Given the description of an element on the screen output the (x, y) to click on. 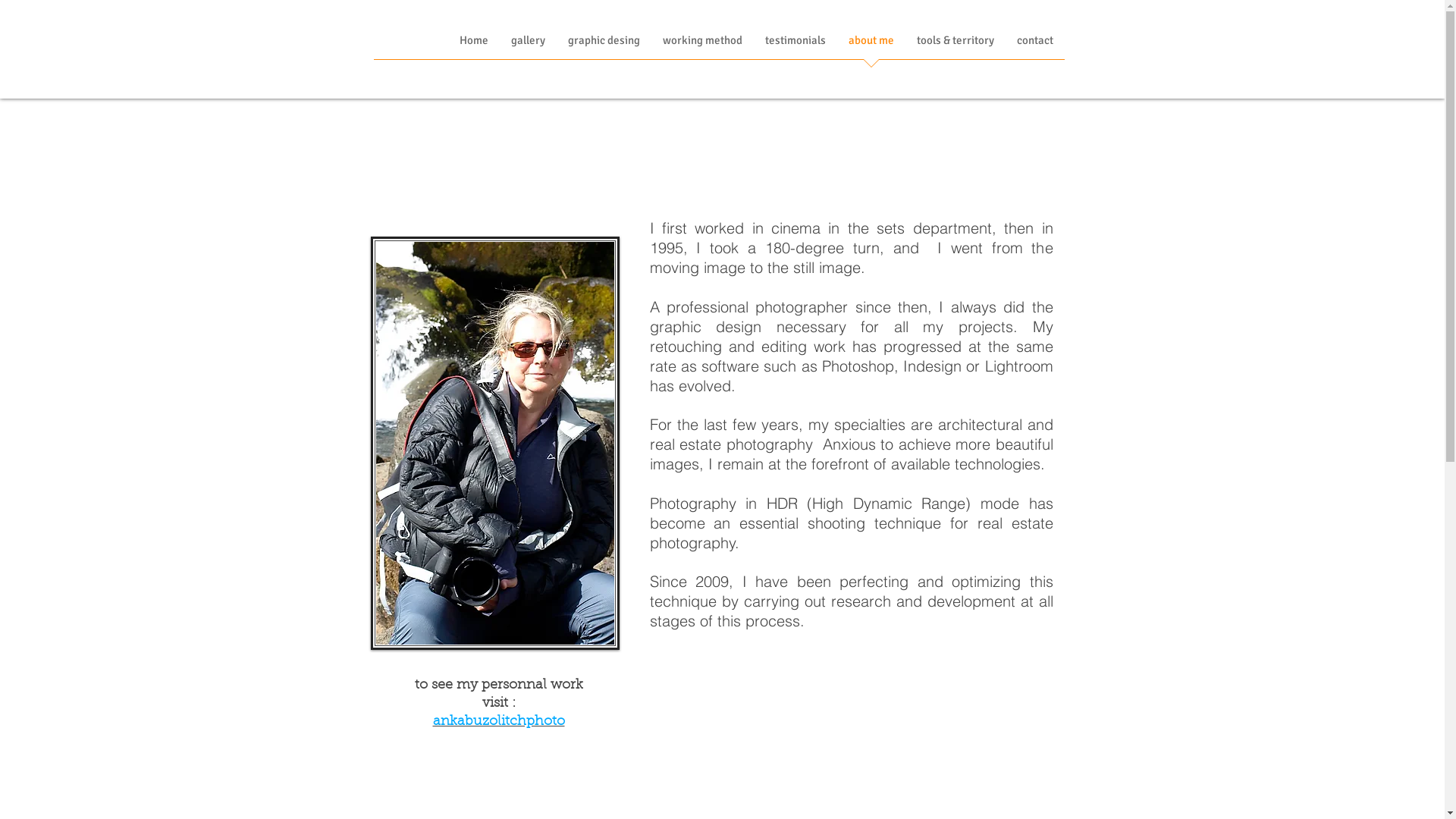
gallery Element type: text (526, 45)
Home Element type: text (472, 45)
tools & territory Element type: text (955, 45)
graphic desing Element type: text (603, 45)
ankabuzolitchphoto Element type: text (498, 720)
testimonials Element type: text (795, 45)
TWIPLA (Visitor Analytics) Element type: hover (1442, 4)
about me Element type: text (871, 45)
contact Element type: text (1034, 45)
working method Element type: text (701, 45)
